Given the description of an element on the screen output the (x, y) to click on. 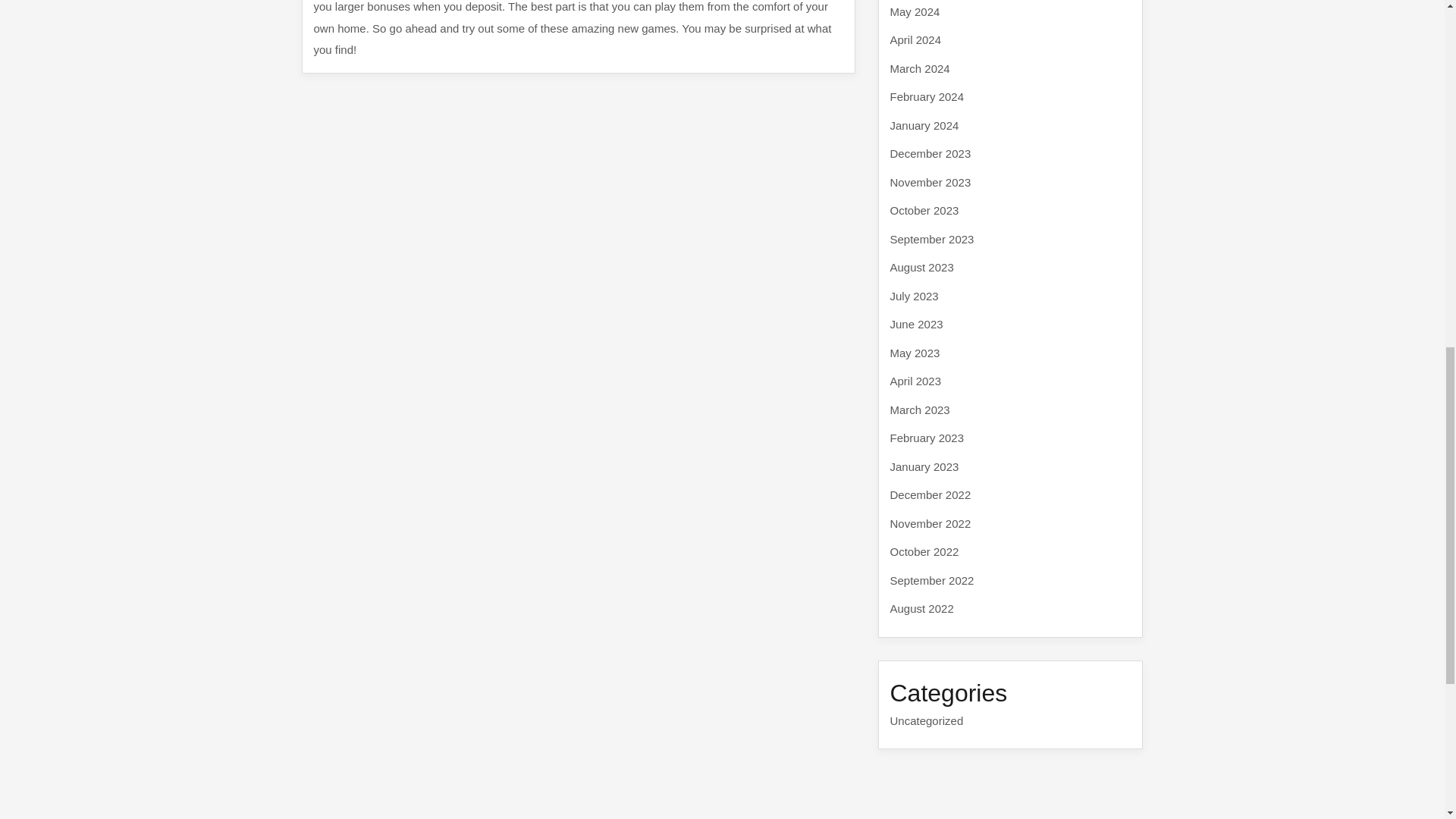
May 2024 (914, 10)
March 2024 (919, 68)
June 2023 (916, 323)
May 2023 (914, 351)
January 2024 (924, 124)
October 2023 (924, 210)
November 2022 (930, 522)
November 2023 (930, 182)
December 2022 (930, 494)
February 2024 (926, 96)
